Given the description of an element on the screen output the (x, y) to click on. 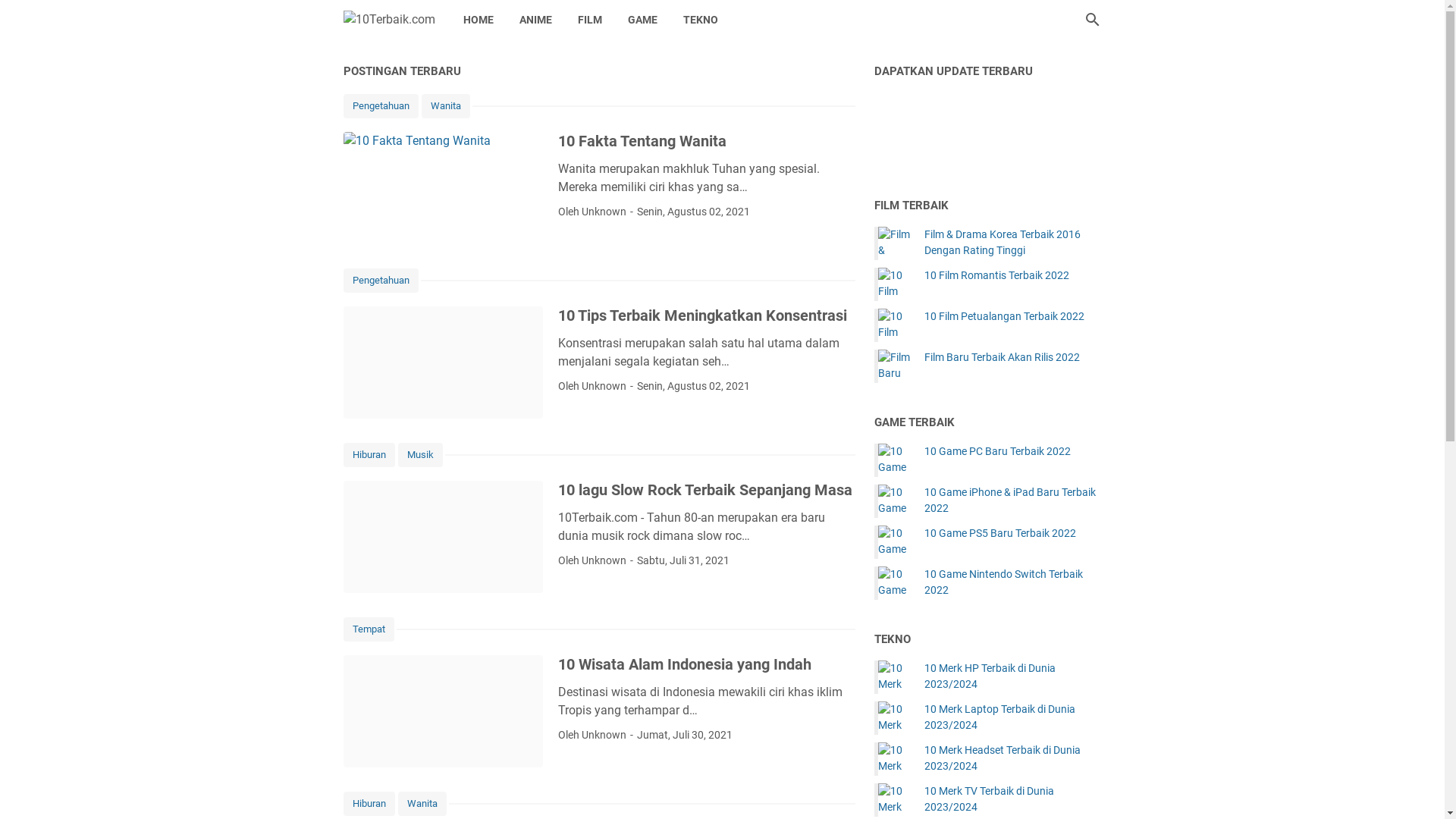
10 Merk HP Terbaik di Dunia 2023/2024 Element type: hover (894, 676)
10 Game Nintendo Switch Terbaik 2022 Element type: text (1012, 582)
Film Baru Terbaik Akan Rilis 2022 Element type: hover (894, 365)
HOME Element type: text (478, 19)
10 Merk TV Terbaik di Dunia 2023/2024 Element type: hover (894, 799)
10 Fakta Tentang Wanita  Element type: hover (442, 187)
Film & Drama Korea Terbaik 2016 Dengan Rating Tinggi Element type: hover (894, 243)
10 lagu Slow Rock Terbaik Sepanjang Masa Element type: text (705, 489)
Pengetahuan Element type: text (379, 106)
10 Tips Terbaik Meningkatkan Konsentrasi Element type: hover (442, 362)
10 Film Romantis Terbaik 2022 Element type: hover (894, 284)
Pengetahuan Element type: text (379, 280)
10 Game iPhone & iPad Baru Terbaik 2022 Element type: text (1012, 500)
Film & Drama Korea Terbaik 2016 Dengan Rating Tinggi Element type: text (1012, 242)
10 Merk Headset Terbaik di Dunia 2023/2024 Element type: hover (894, 758)
10 Tips Terbaik Meningkatkan Konsentrasi Element type: text (702, 315)
10 Game iPhone & iPad Baru Terbaik 2022 Element type: hover (894, 500)
10 Merk TV Terbaik di Dunia 2023/2024 Element type: text (1012, 799)
Hiburan Element type: text (368, 803)
10 Merk Headset Terbaik di Dunia 2023/2024 Element type: text (1012, 758)
ANIME Element type: text (535, 19)
10 lagu Slow Rock Terbaik Sepanjang Masa Element type: hover (442, 536)
FILM Element type: text (589, 19)
10 Merk Laptop Terbaik di Dunia 2023/2024 Element type: hover (894, 717)
Tempat Element type: text (367, 629)
Wanita Element type: text (445, 106)
Cari blog ini Element type: hover (1091, 19)
Wanita Element type: text (421, 803)
10 Game PC Baru Terbaik 2022 Element type: text (996, 451)
10 Game Nintendo Switch Terbaik 2022 Element type: hover (894, 582)
10 Wisata Alam Indonesia yang Indah Element type: text (684, 664)
Film Baru Terbaik Akan Rilis 2022 Element type: text (1001, 357)
10 Fakta Tentang Wanita Element type: text (642, 140)
10 Game PS5 Baru Terbaik 2022 Element type: text (999, 533)
10 Merk Laptop Terbaik di Dunia 2023/2024 Element type: text (1012, 717)
Hiburan Element type: text (368, 454)
10 Film Petualangan Terbaik 2022 Element type: text (1003, 316)
10 Merk HP Terbaik di Dunia 2023/2024 Element type: text (1012, 676)
TEKNO Element type: text (700, 19)
10 Wisata Alam Indonesia yang Indah Element type: hover (442, 711)
Musik Element type: text (419, 454)
10Terbaik.com Element type: hover (388, 19)
10 Film Romantis Terbaik 2022 Element type: text (995, 275)
10 Film Petualangan Terbaik 2022 Element type: hover (894, 325)
10 Game PC Baru Terbaik 2022 Element type: hover (894, 459)
GAME Element type: text (641, 19)
10 Game PS5 Baru Terbaik 2022 Element type: hover (894, 541)
